Given the description of an element on the screen output the (x, y) to click on. 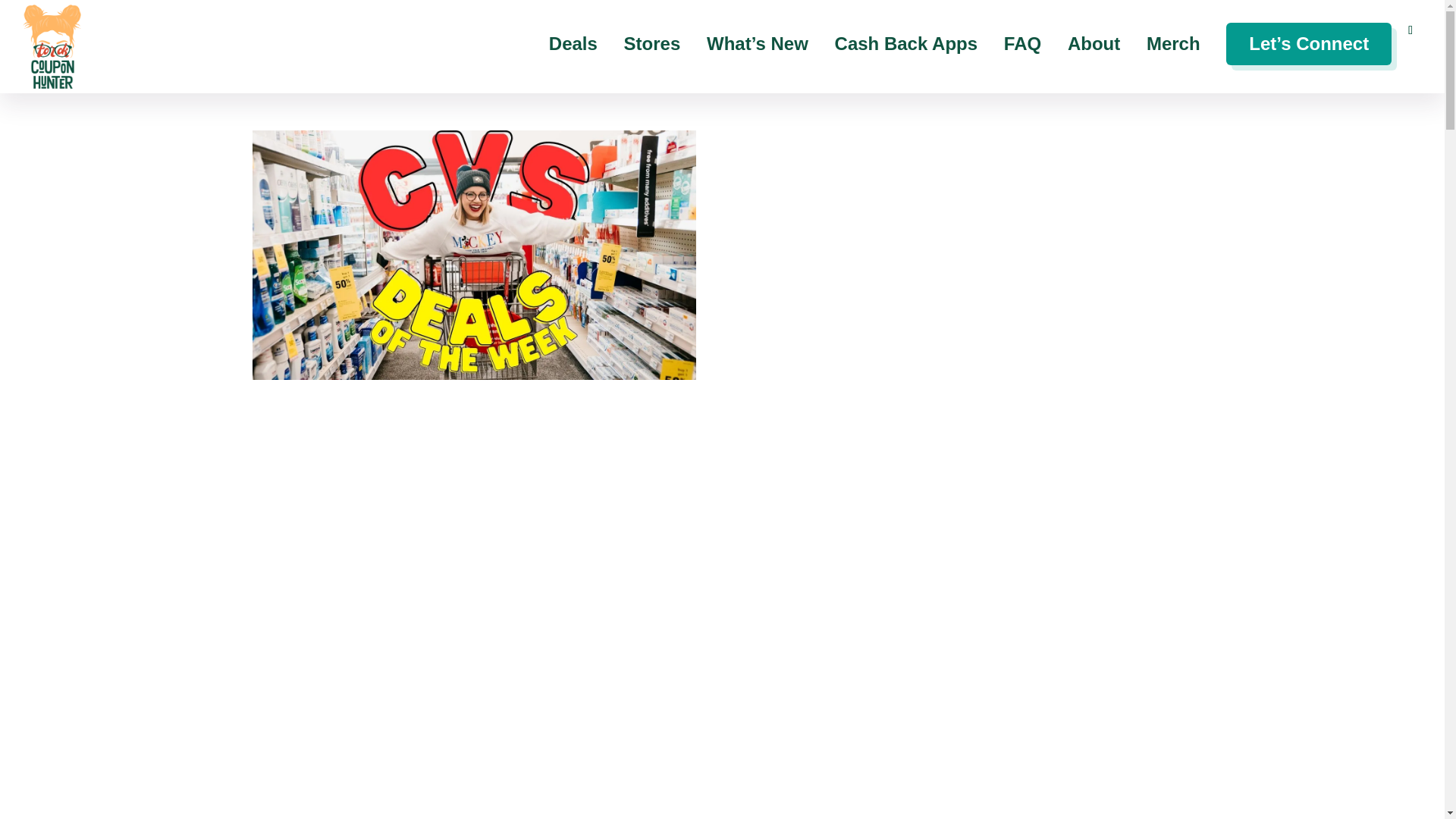
Stores (652, 65)
Deals (572, 65)
About (1093, 65)
Merch (1173, 65)
Cash Back Apps (906, 65)
Kiersti Torok (473, 255)
